Given the description of an element on the screen output the (x, y) to click on. 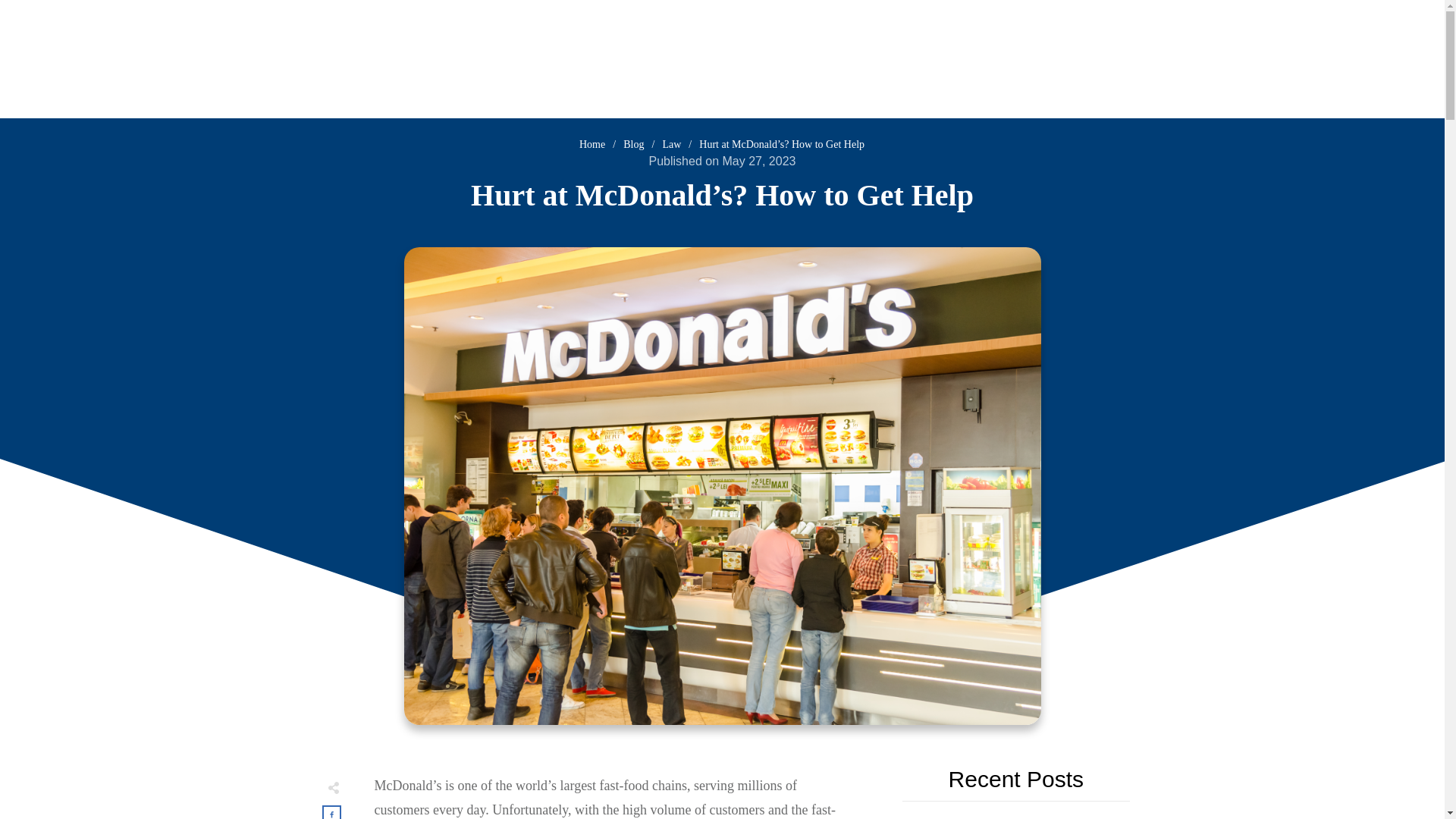
Blog (633, 143)
Law (671, 143)
Home (592, 143)
